Given the description of an element on the screen output the (x, y) to click on. 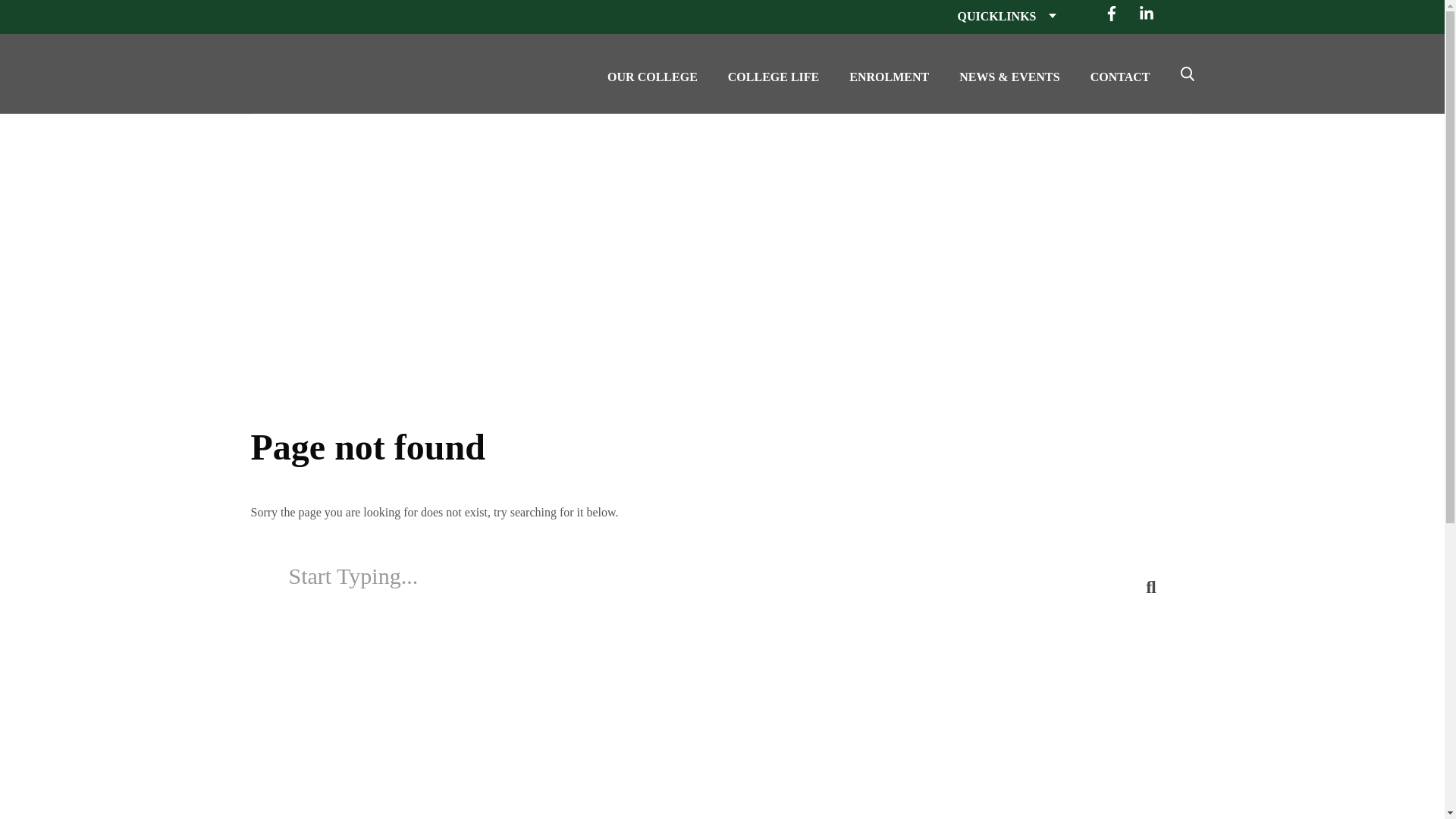
OUR COLLEGE (652, 73)
COLLEGE LIFE (773, 73)
ENROLMENT (888, 73)
Back to Good Shepherd College Homepage (322, 64)
